Given the description of an element on the screen output the (x, y) to click on. 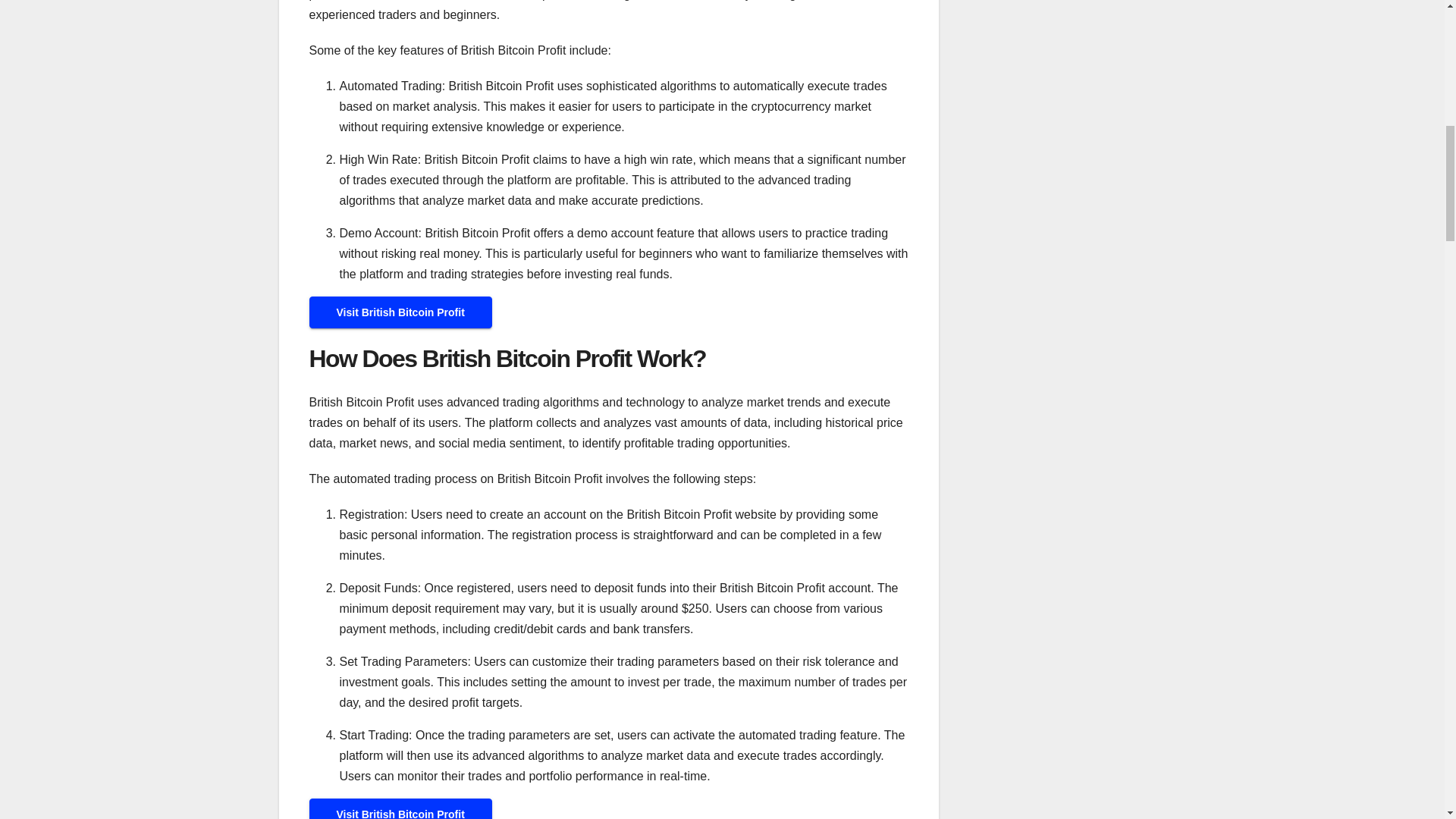
Visit British Bitcoin Profit (400, 312)
Visit British Bitcoin Profit (400, 808)
Visit British Bitcoin Profit (400, 311)
Visit British Bitcoin Profit (400, 813)
